Given the description of an element on the screen output the (x, y) to click on. 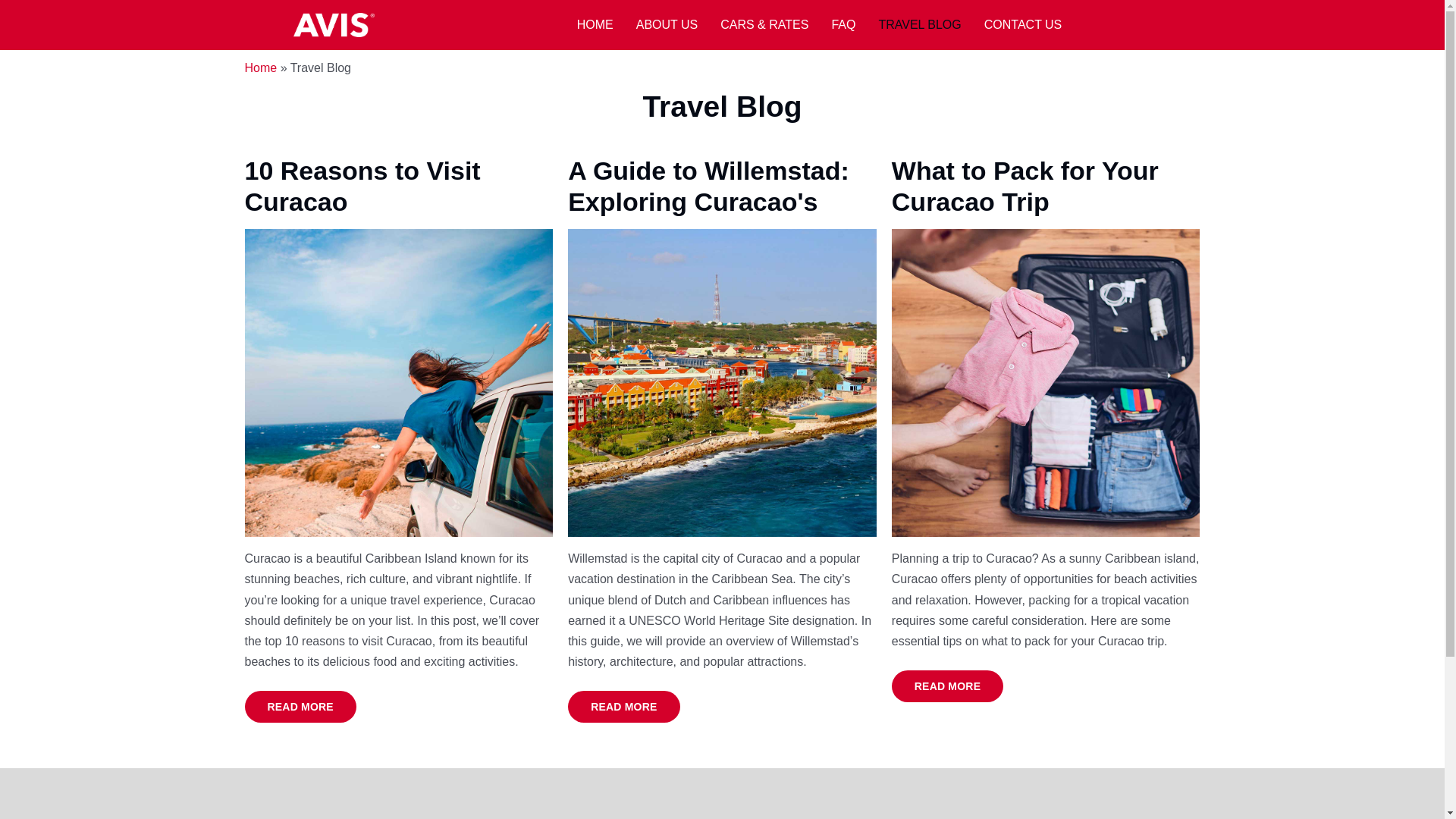
Home (260, 67)
TRAVEL BLOG (919, 24)
READ MORE (623, 706)
READ MORE (299, 706)
HOME (595, 24)
FAQ (842, 24)
READ MORE (947, 685)
ABOUT US (667, 24)
CONTACT US (1023, 24)
